Given the description of an element on the screen output the (x, y) to click on. 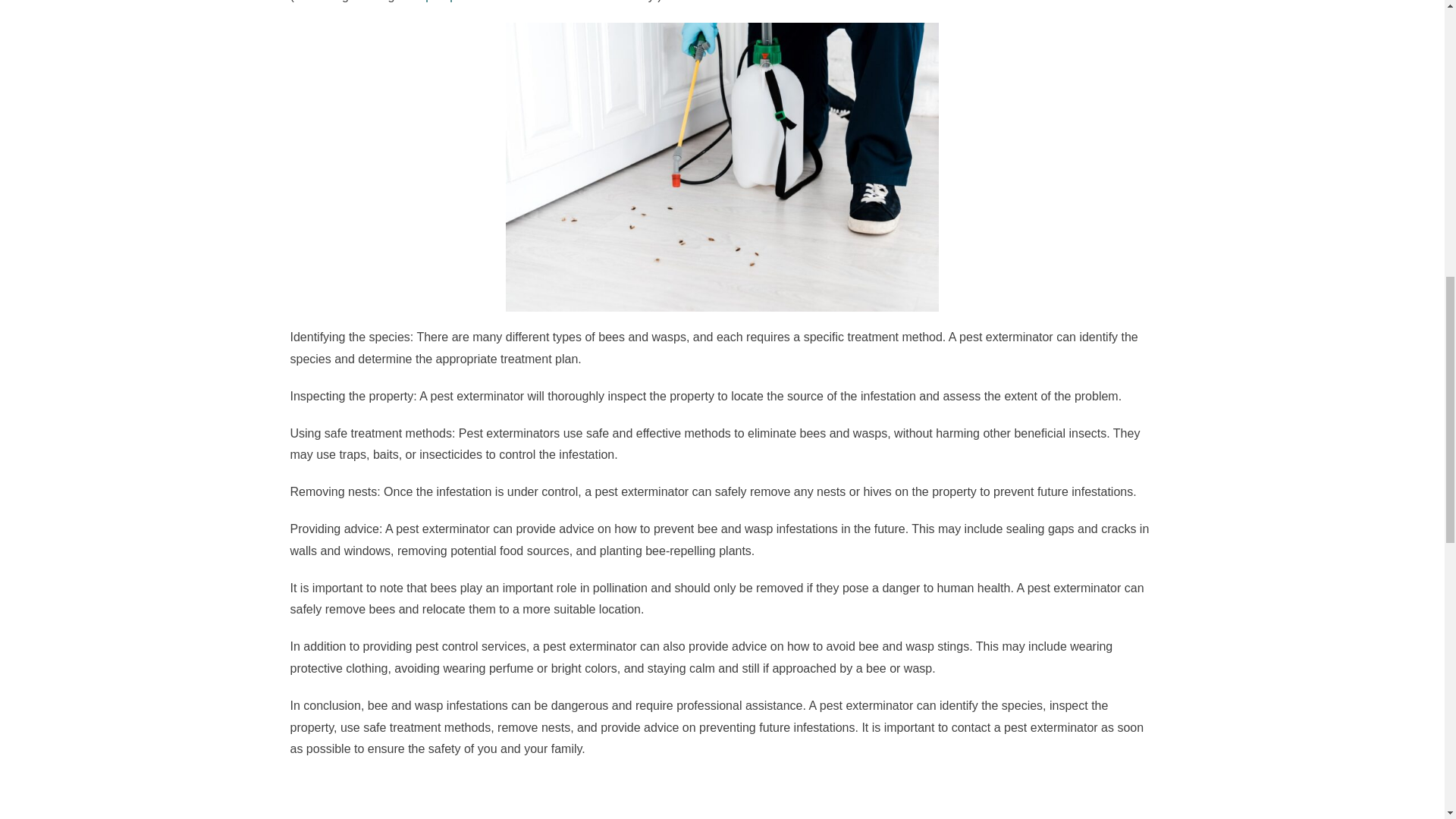
Expert pest extermination (480, 1)
